Given the description of an element on the screen output the (x, y) to click on. 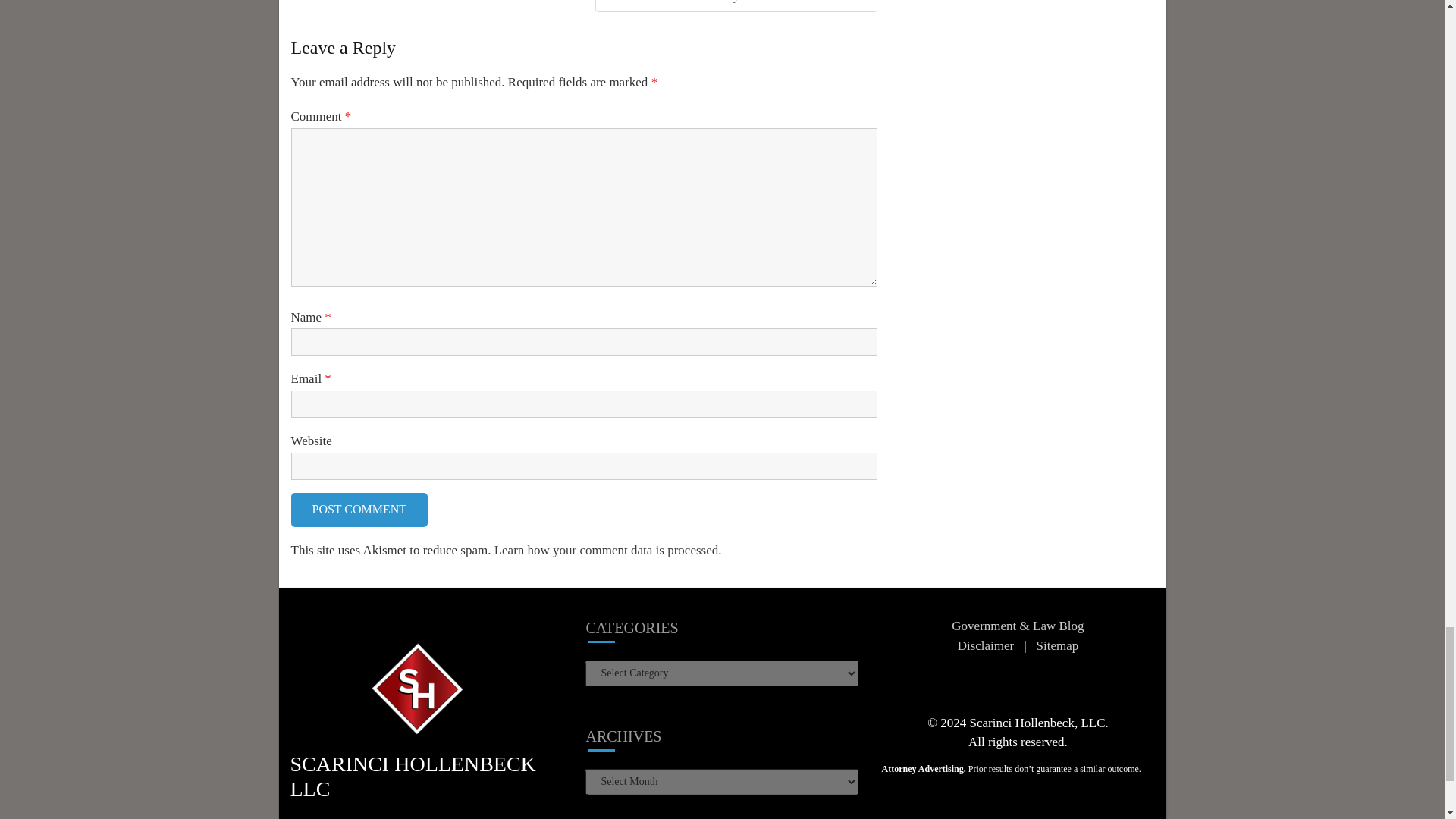
Post Comment (359, 510)
